Given the description of an element on the screen output the (x, y) to click on. 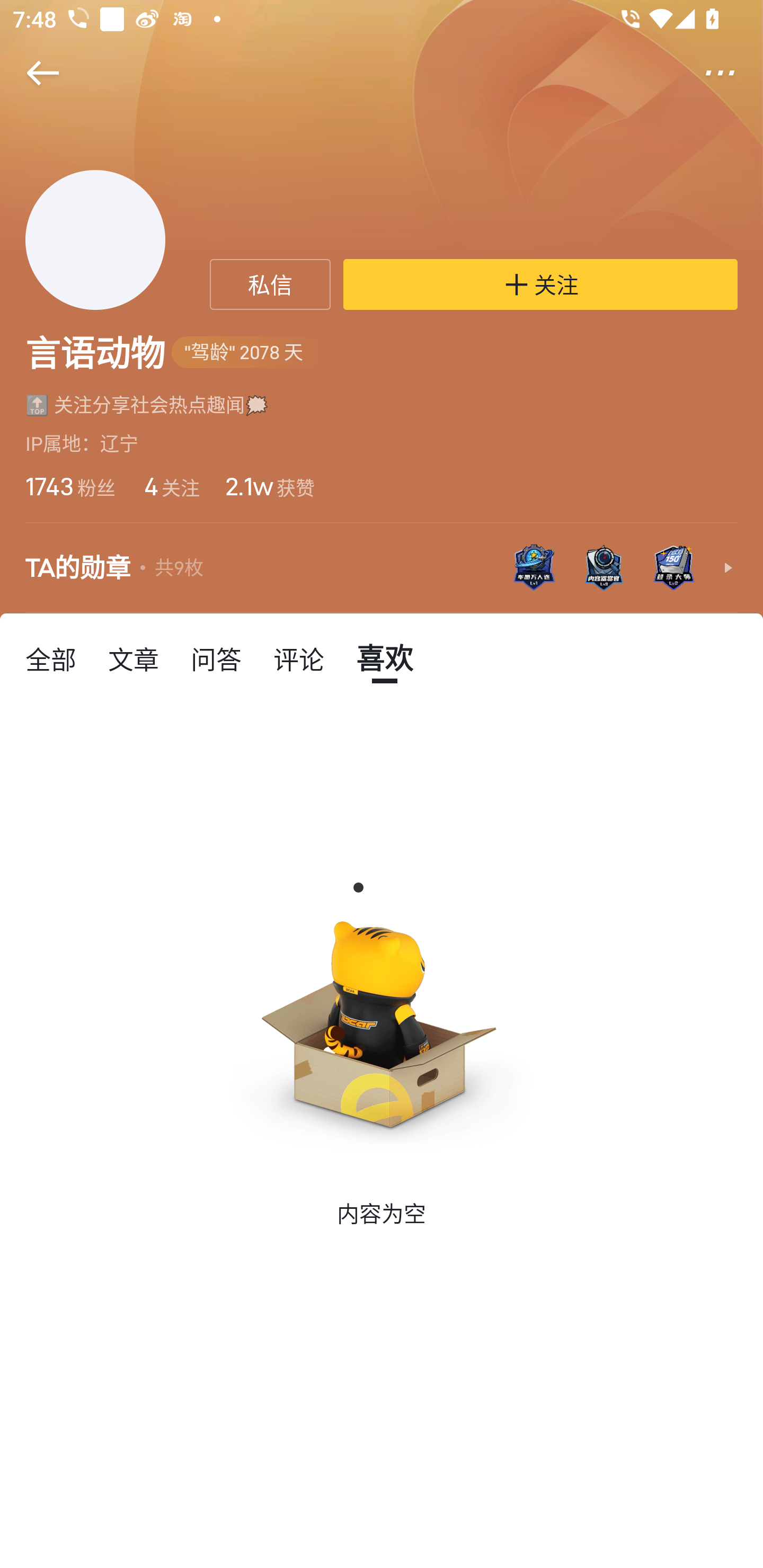
 (30, 72)
 (732, 72)
私信 (269, 284)
 关注 (540, 284)
"驾龄" 2078 天 (253, 352)
1743 粉丝 (70, 485)
4 关注 (170, 485)
2.1w 获赞 (269, 485)
TA的勋章 共9枚  (381, 568)
全部 (50, 657)
文章 (133, 657)
问答 (215, 657)
评论 (298, 657)
喜欢 (384, 657)
内容为空 (381, 1021)
